Given the description of an element on the screen output the (x, y) to click on. 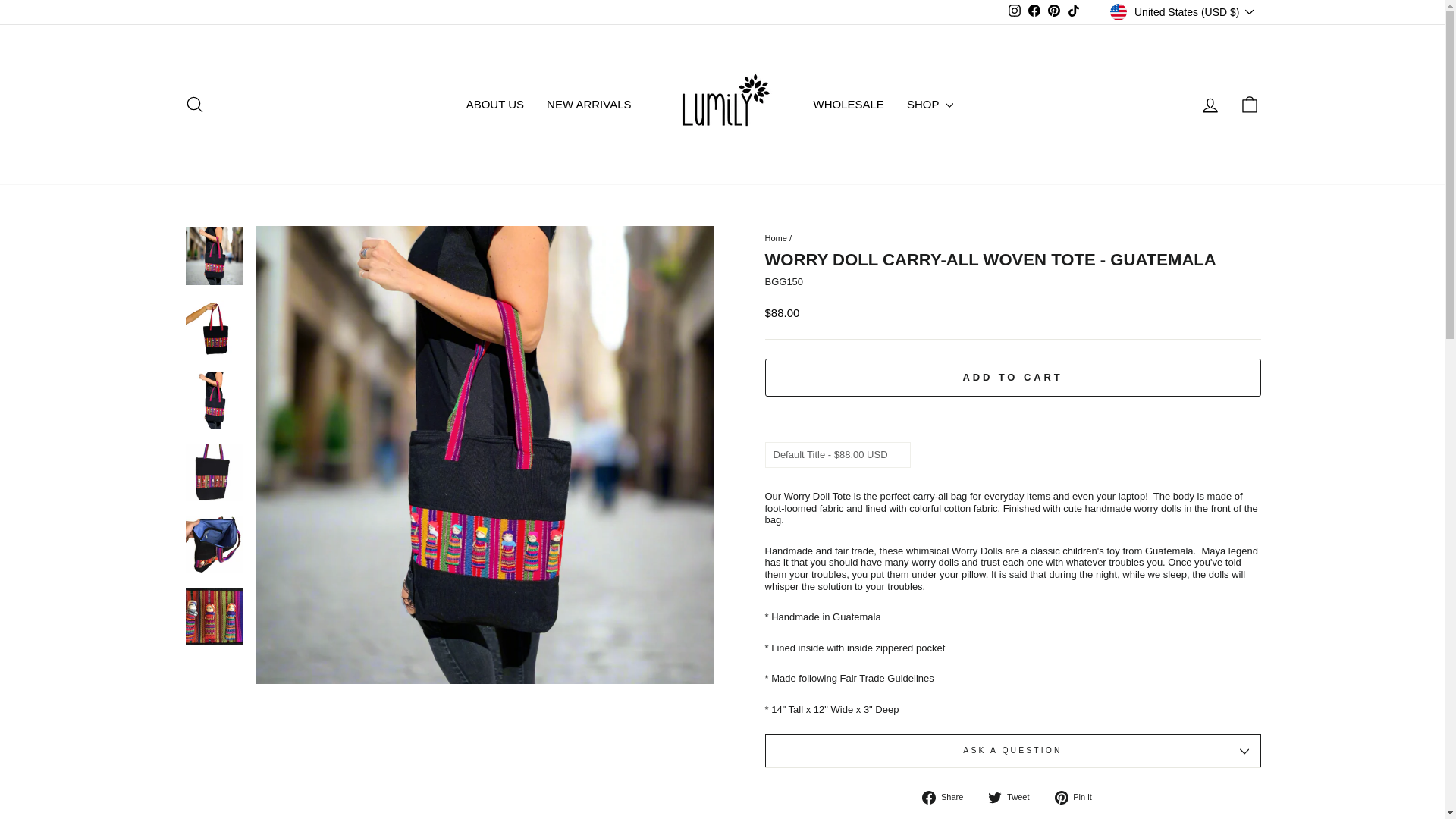
Lumily on Facebook (1034, 12)
Pin on Pinterest (1078, 797)
account (1210, 105)
instagram (1014, 10)
Back to the frontpage (775, 237)
icon-bag-minimal (1249, 104)
twitter (994, 797)
Lumily on Instagram (1014, 12)
Share on Facebook (947, 797)
Lumily on Pinterest (1053, 12)
icon-search (194, 104)
Tweet on Twitter (1014, 797)
Lumily on TikTok (1073, 12)
